Given the description of an element on the screen output the (x, y) to click on. 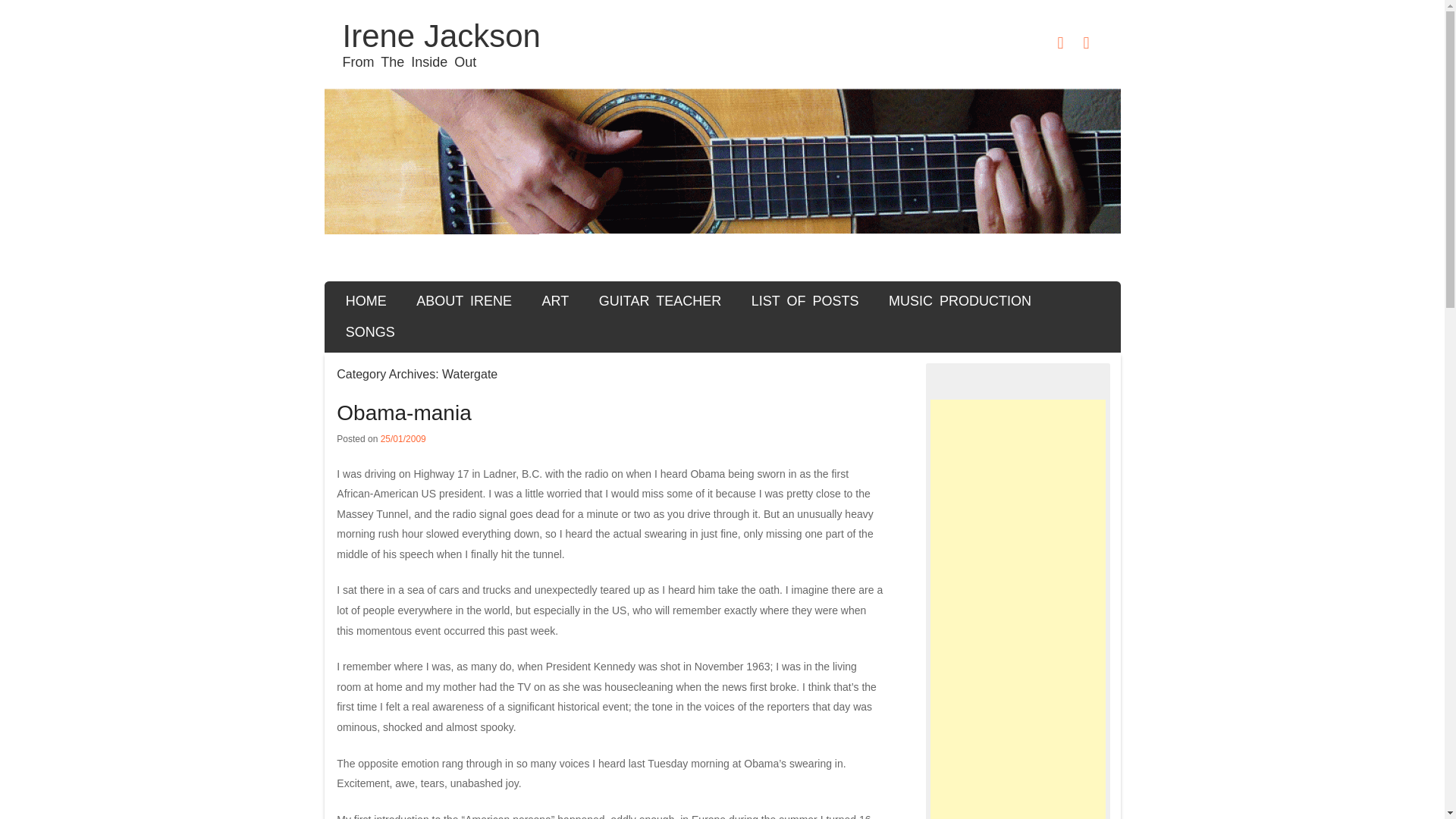
6:30 pm (403, 439)
Permalink to Obama-mania (403, 413)
ABOUT IRENE (463, 300)
Irene Jackson (441, 36)
SKIP TO CONTENT (397, 296)
MUSIC PRODUCTION (959, 300)
LIST OF POSTS (804, 300)
HOME (365, 300)
GUITAR TEACHER (660, 300)
ART (555, 300)
